Given the description of an element on the screen output the (x, y) to click on. 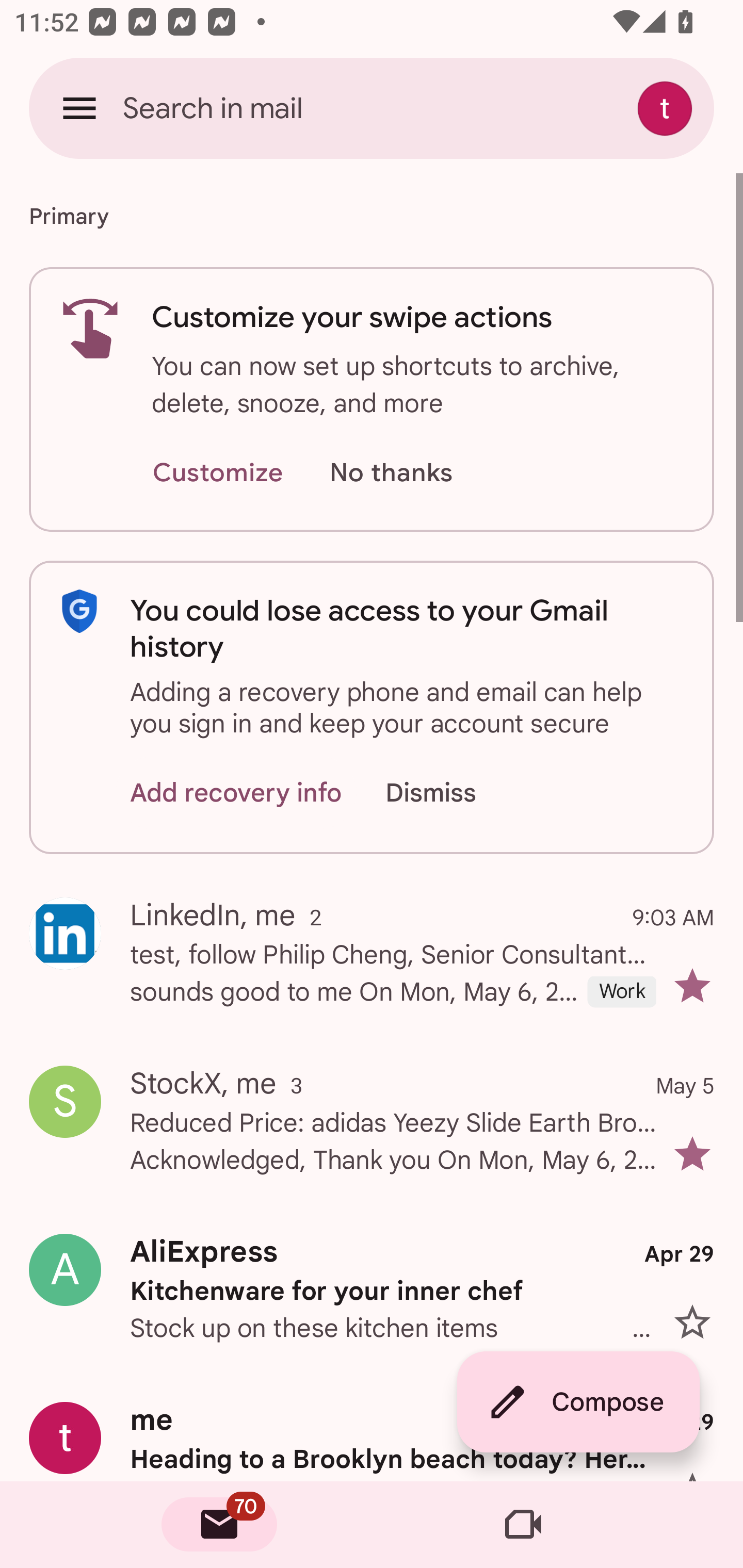
Open navigation drawer (79, 108)
Customize (217, 473)
No thanks (390, 473)
Add recovery info (235, 792)
Dismiss (449, 792)
Compose (577, 1401)
Meet (523, 1524)
